Given the description of an element on the screen output the (x, y) to click on. 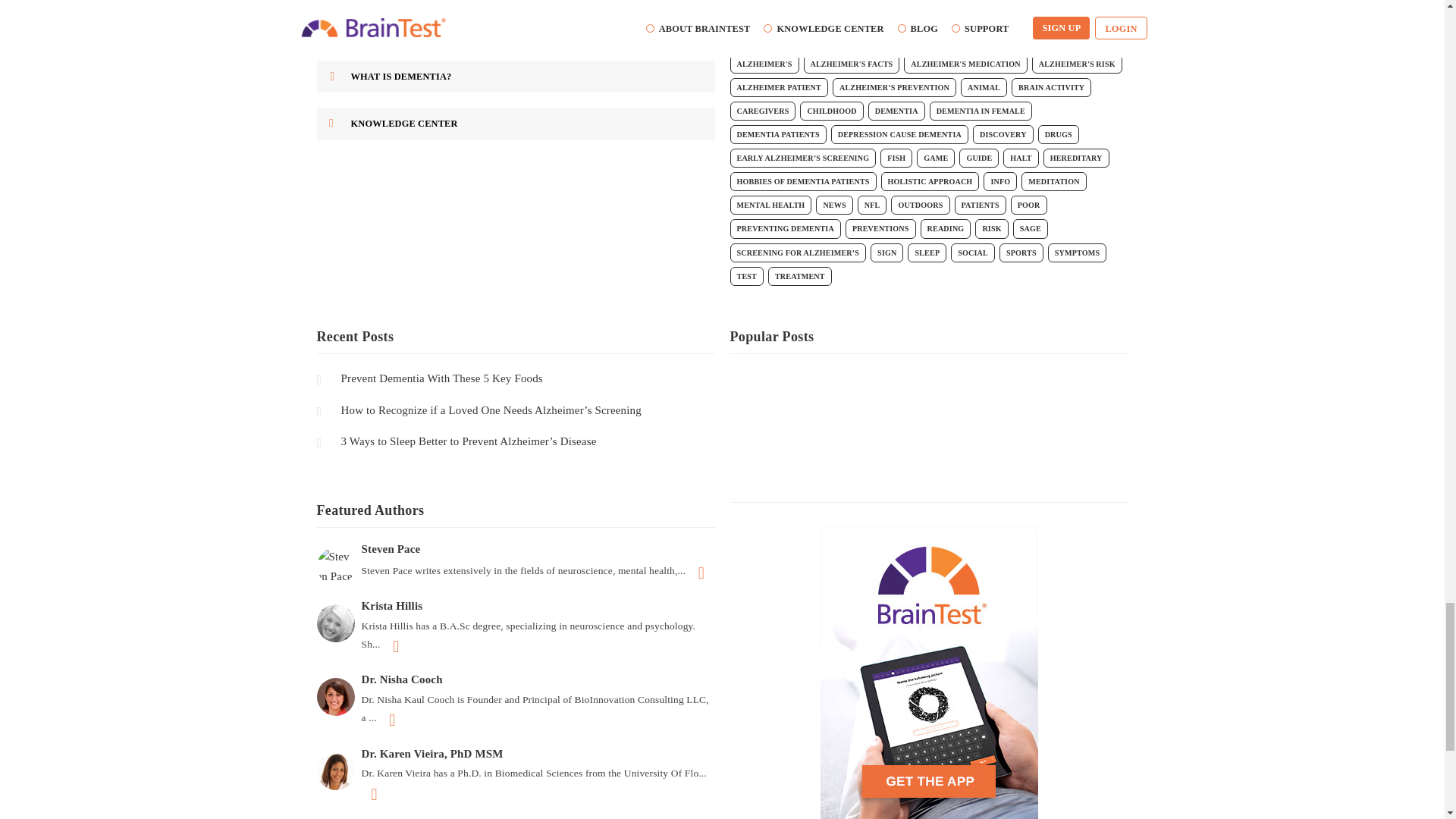
Steven Pace (336, 566)
Steven Pace (337, 566)
Steven Pace (515, 549)
